Given the description of an element on the screen output the (x, y) to click on. 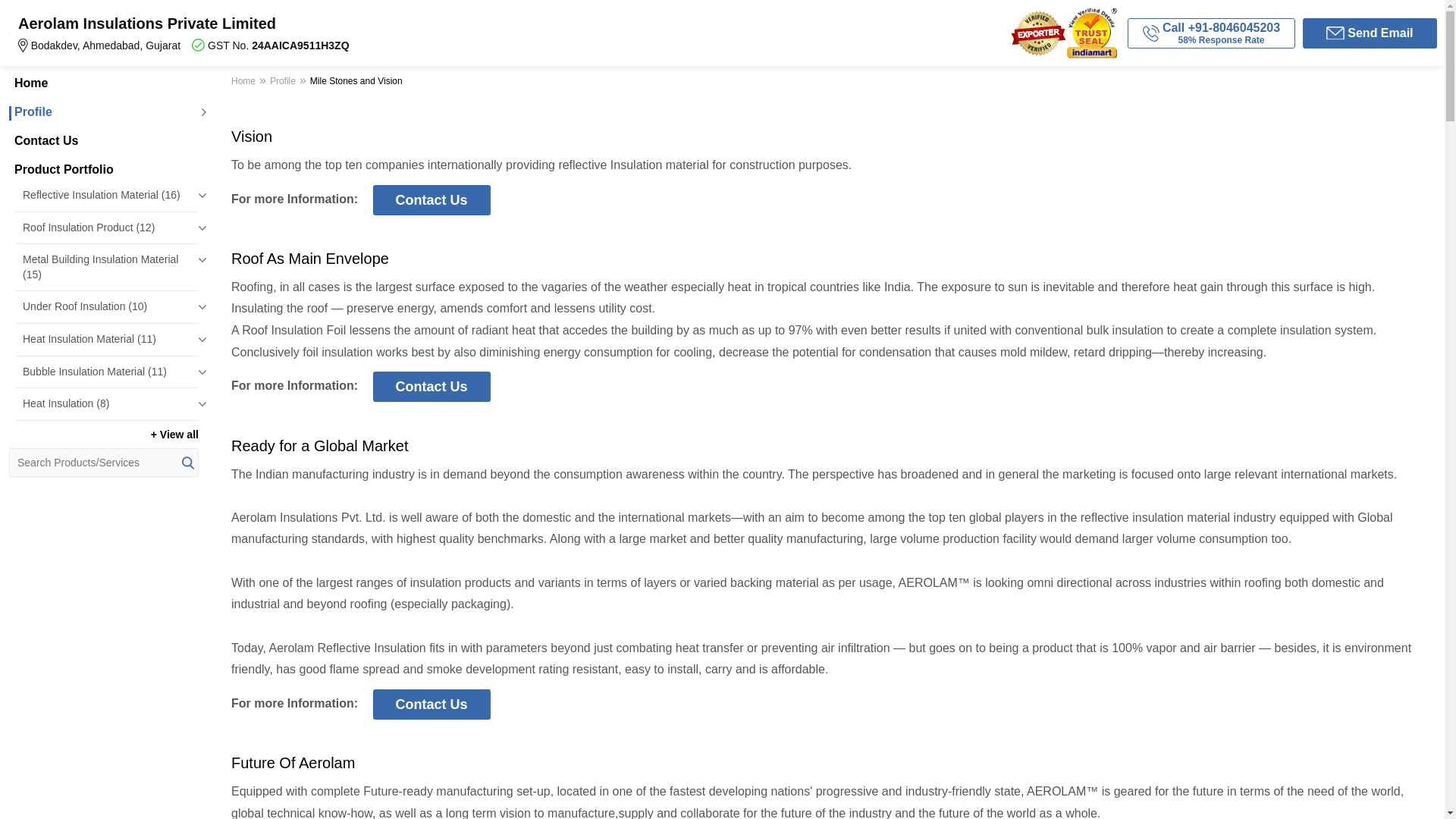
Product Portfolio (103, 169)
Home (103, 82)
Profile (103, 111)
Contact Us (103, 141)
